Given the description of an element on the screen output the (x, y) to click on. 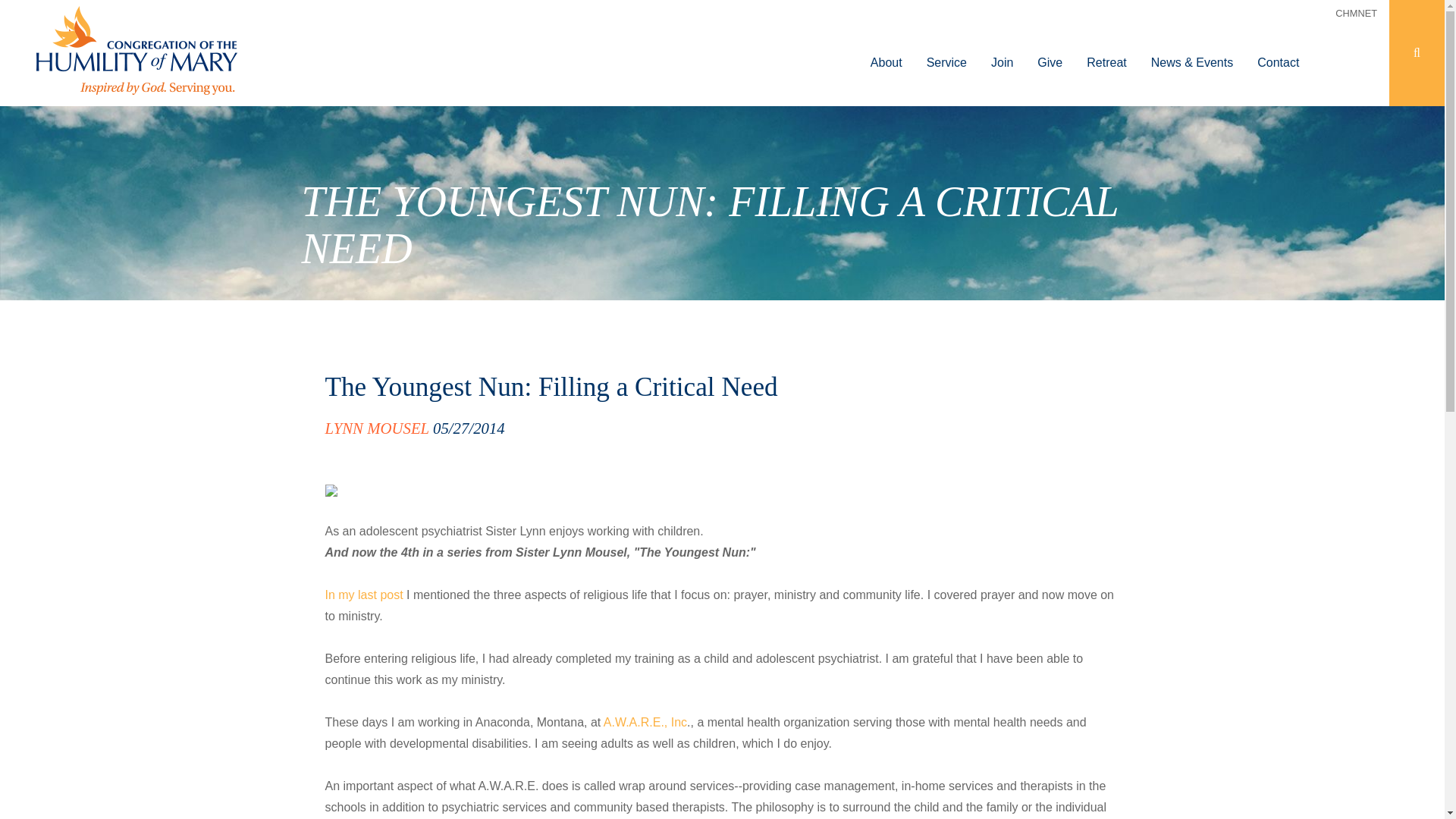
CHMNET (1356, 13)
Join (1001, 53)
Give (1049, 53)
About (886, 53)
Service (946, 53)
Retreat (1106, 53)
